Given the description of an element on the screen output the (x, y) to click on. 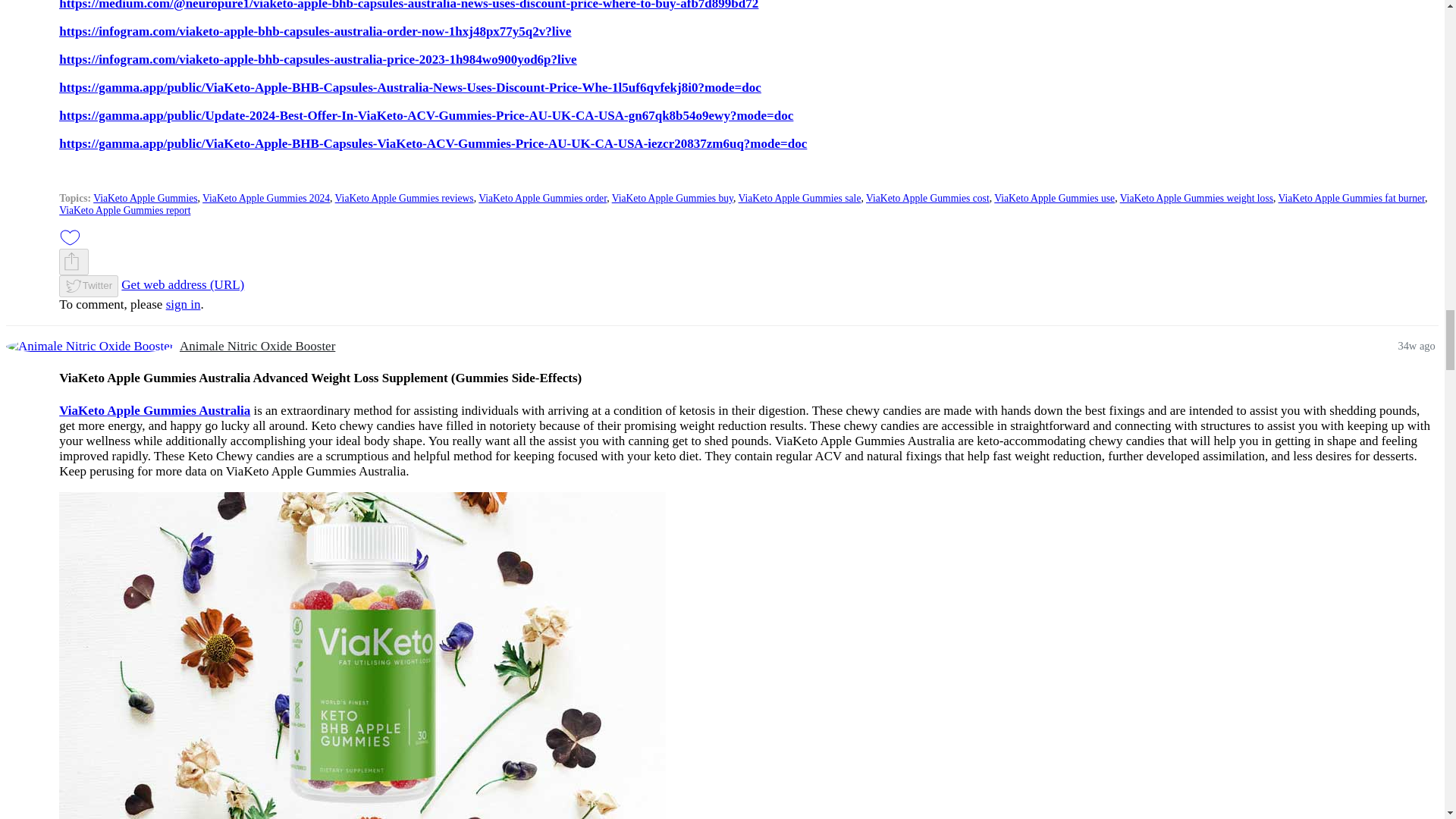
Like (70, 237)
Animale Nitric Oxide Booster (89, 346)
Share (71, 261)
